Given the description of an element on the screen output the (x, y) to click on. 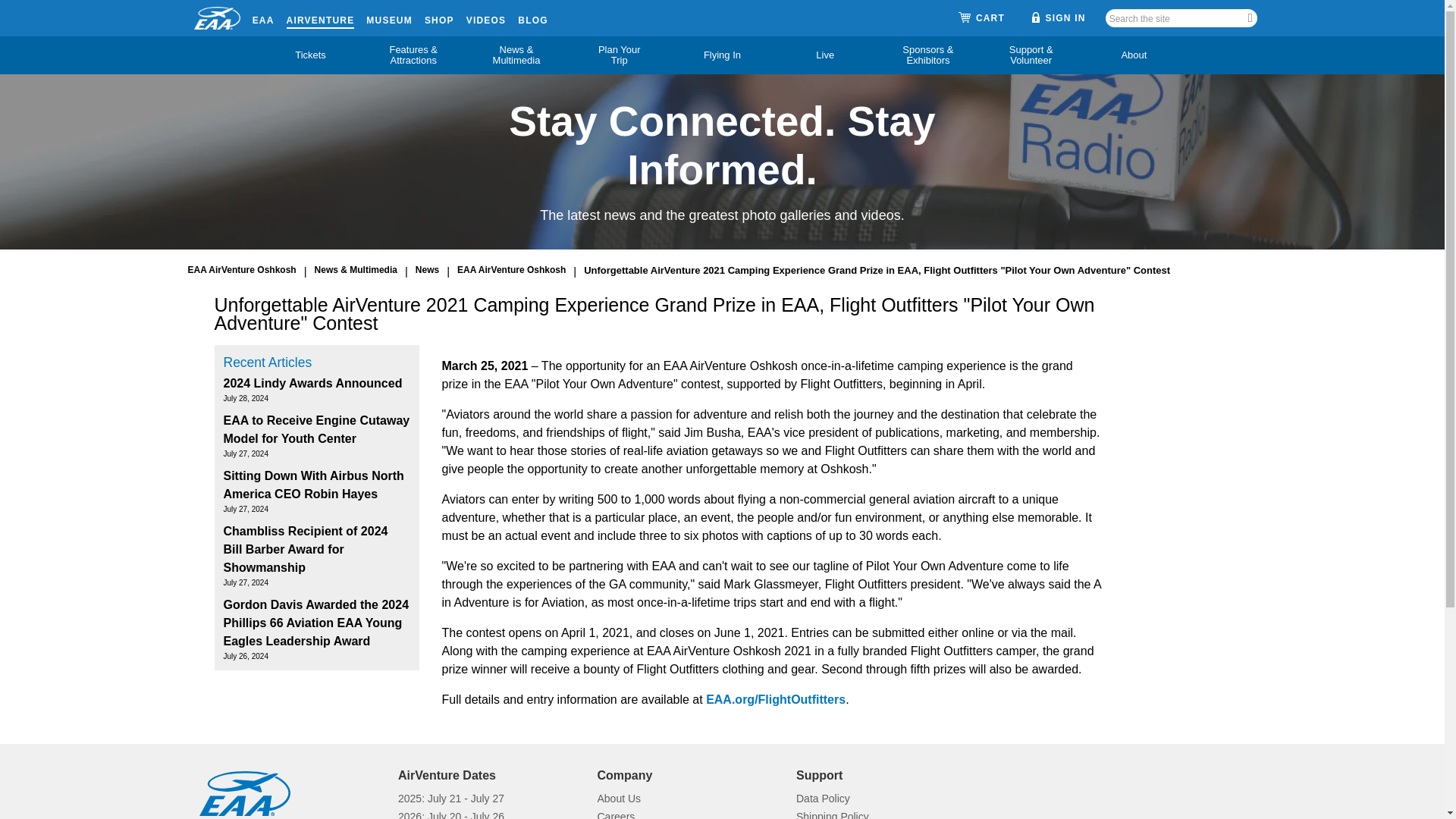
BLOG (532, 17)
CART (980, 18)
SHOP (439, 17)
VIDEOS (485, 17)
SIGN IN (1059, 18)
MUSEUM (389, 17)
EAA (263, 17)
AIRVENTURE (320, 17)
